Given the description of an element on the screen output the (x, y) to click on. 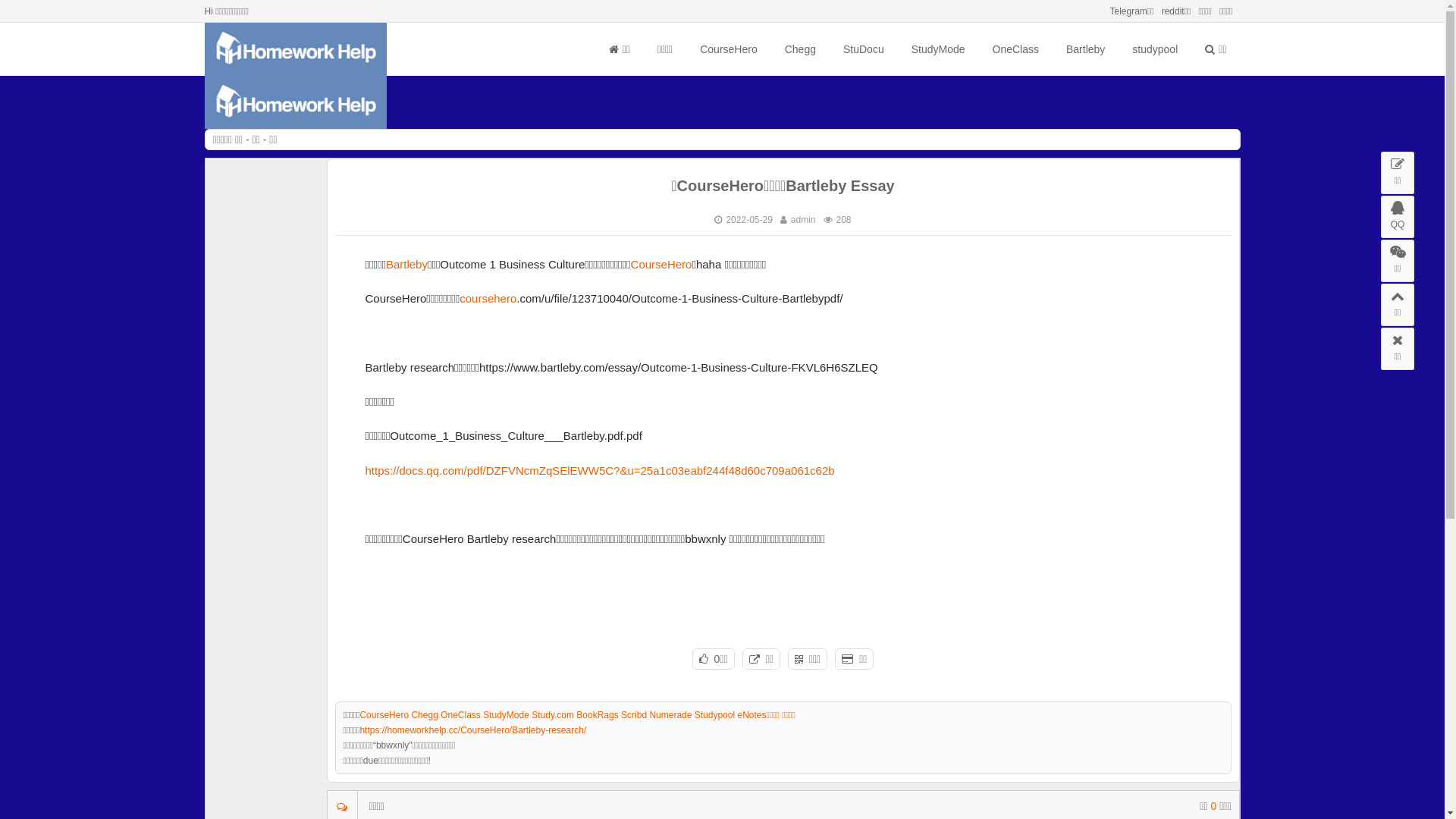
Bartleby Element type: text (1085, 48)
Bartleby Element type: text (406, 263)
studypool Element type: text (1154, 48)
OneClass Element type: text (1014, 48)
StudyMode Element type: text (938, 48)
CourseHero Element type: text (728, 48)
StuDocu Element type: text (863, 48)
CourseHero Element type: text (661, 263)
https://homeworkhelp.cc/CourseHero/Bartleby-research/ Element type: text (472, 729)
Chegg Element type: text (800, 48)
coursehero Element type: text (487, 297)
QQ Element type: text (1397, 216)
admin Element type: text (802, 219)
